Given the description of an element on the screen output the (x, y) to click on. 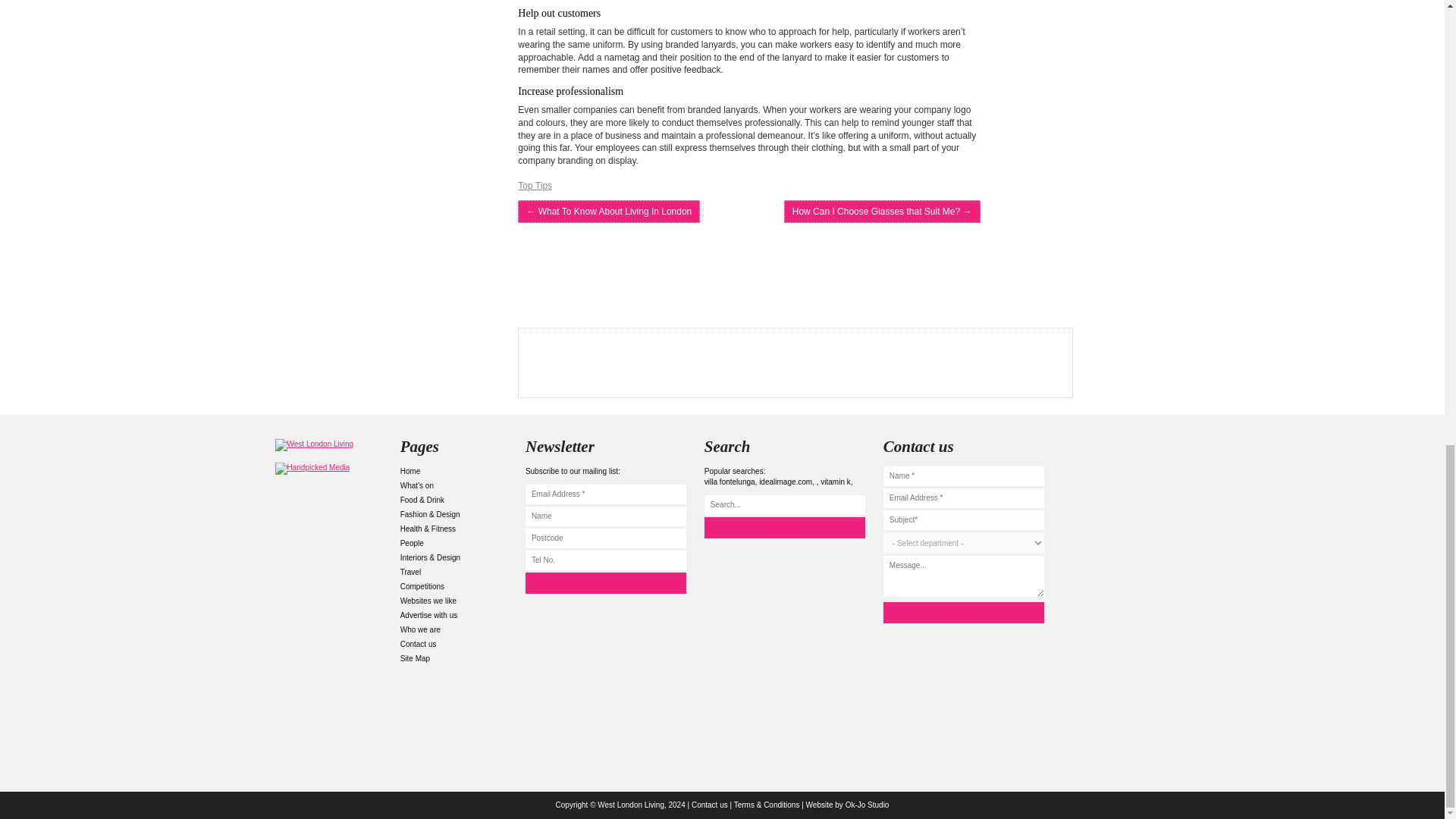
Name (605, 516)
Subscribe (605, 582)
Postcode (605, 537)
Search (784, 527)
Tel No. (605, 560)
Send (963, 612)
